Given the description of an element on the screen output the (x, y) to click on. 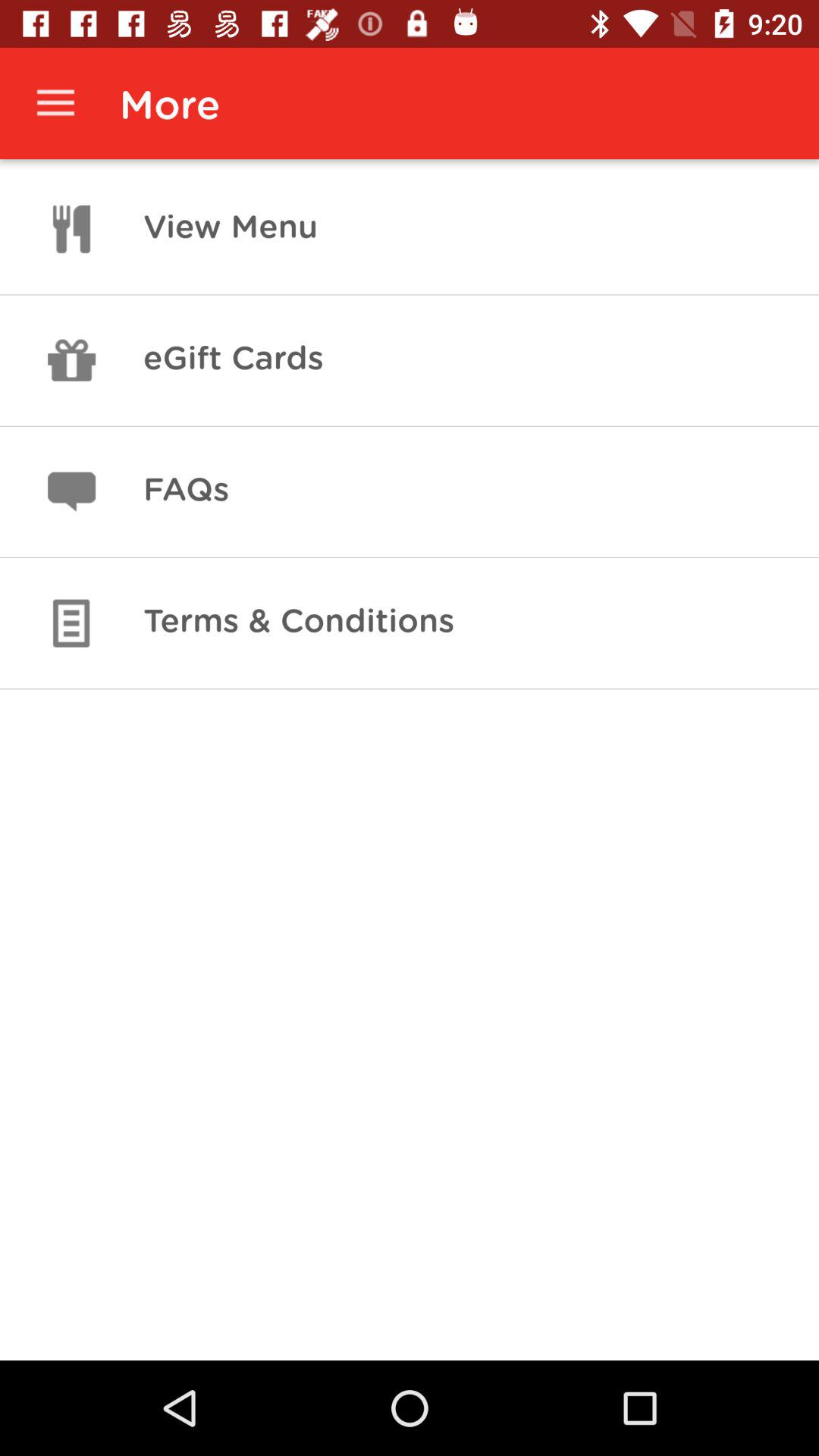
swipe until the egift cards item (233, 360)
